Given the description of an element on the screen output the (x, y) to click on. 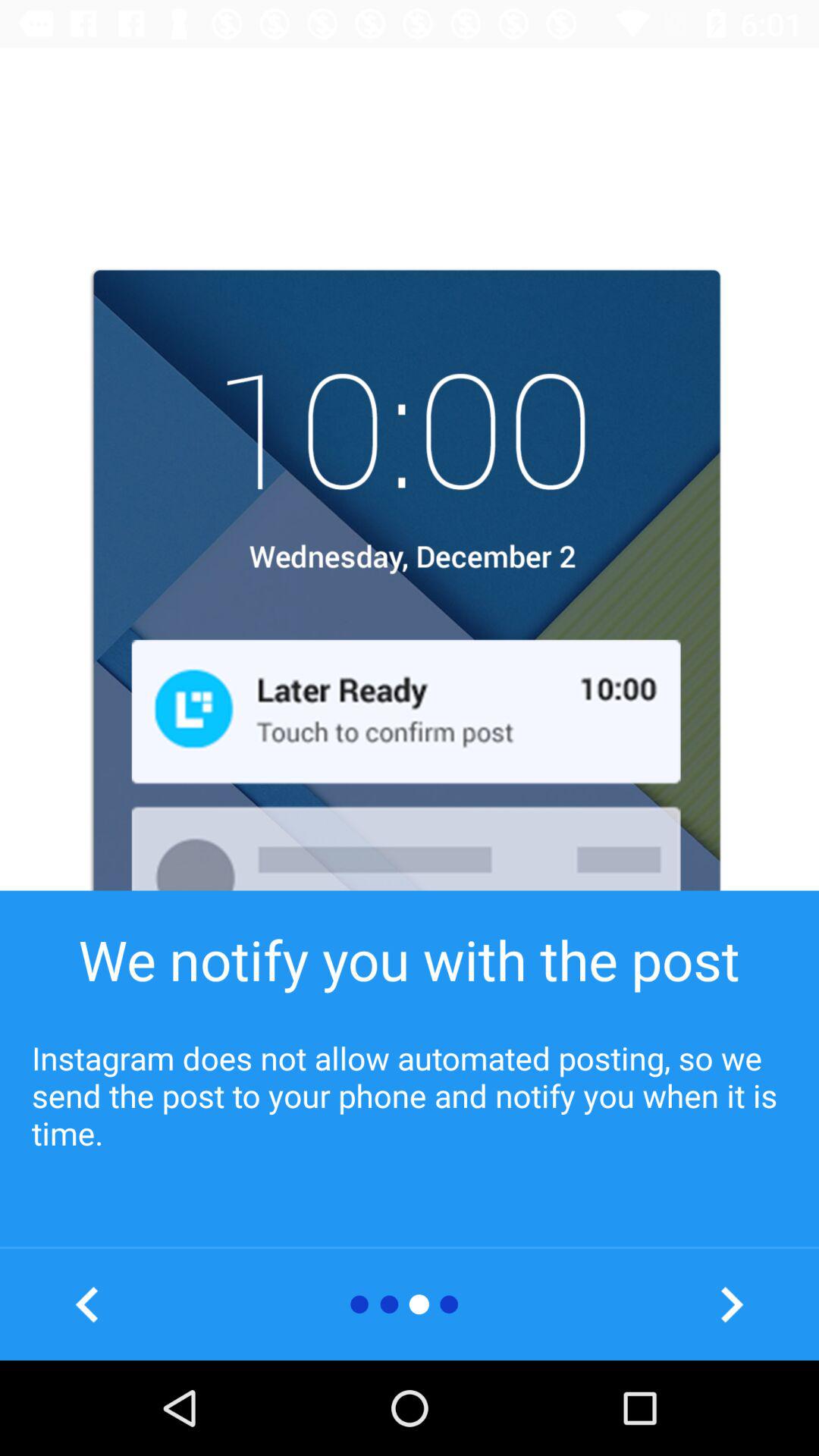
next screen (731, 1304)
